Given the description of an element on the screen output the (x, y) to click on. 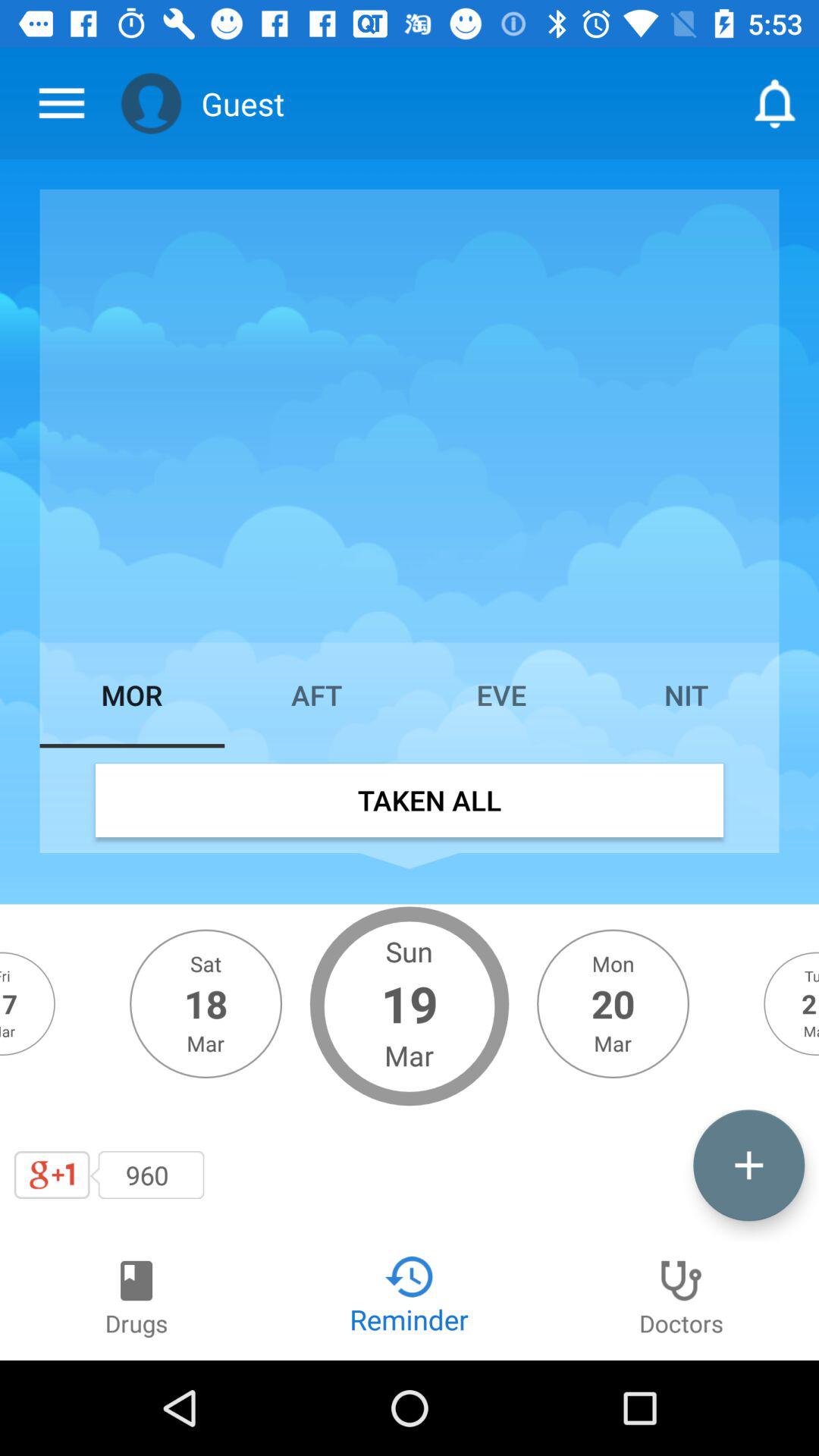
click icon to the left of guest item (151, 103)
